Given the description of an element on the screen output the (x, y) to click on. 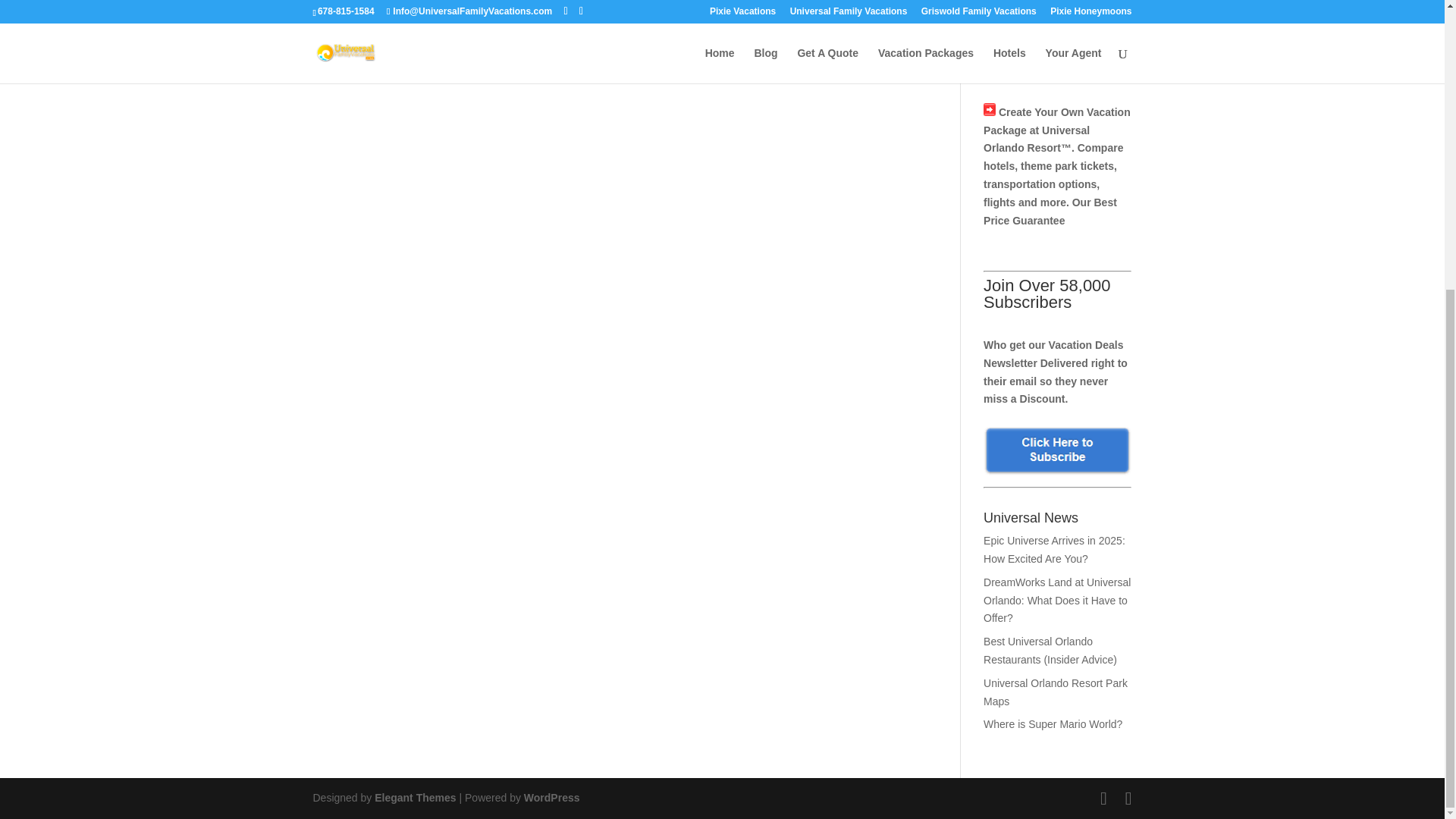
Epic Universe Arrives in 2025: How Excited Are You? (1054, 549)
Where is Super Mario World? (1053, 724)
get a quote (350, 47)
Universal News (1057, 521)
Premium WordPress Themes (414, 797)
Elegant Themes (414, 797)
WordPress (551, 797)
Universal Orlando Resort Park Maps (1055, 692)
